Given the description of an element on the screen output the (x, y) to click on. 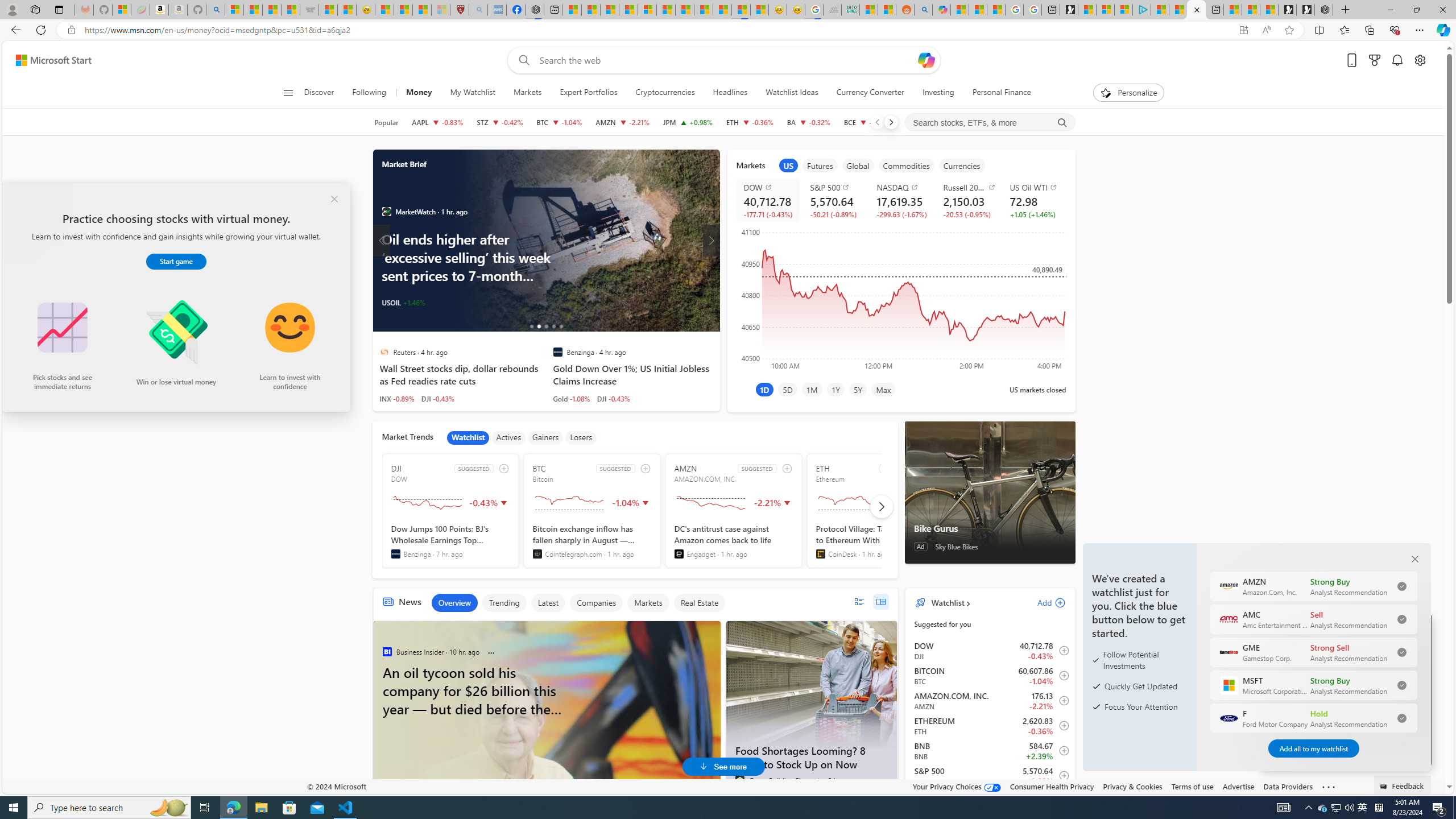
JPM JPMORGAN CHASE & CO. increase 216.71 +2.11 +0.98% (687, 122)
1D (764, 389)
item3 (857, 164)
DJI -0.43% (613, 397)
Engadget (679, 553)
NASDAQ (903, 187)
12 Popular Science Lies that Must be Corrected - Sleeping (440, 9)
BTC SUGGESTED Bitcoin (591, 510)
